Given the description of an element on the screen output the (x, y) to click on. 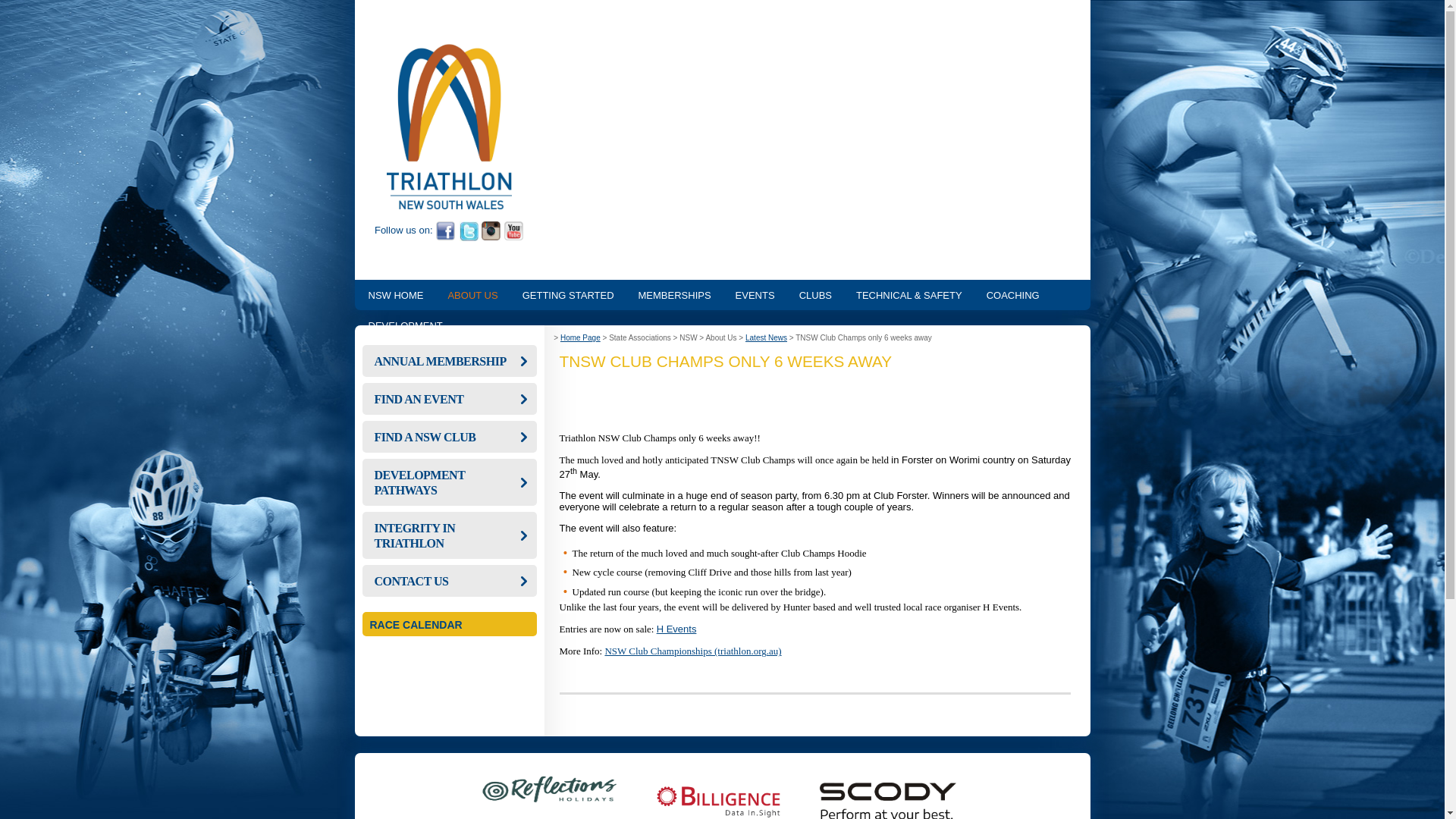
NSW Home (449, 205)
NSW HOME (395, 295)
instagram (490, 229)
twitter (468, 229)
GETTING STARTED (568, 295)
FB (445, 229)
ABOUT US (472, 295)
MEMBERSHIPS (674, 295)
youtube (513, 229)
